Given the description of an element on the screen output the (x, y) to click on. 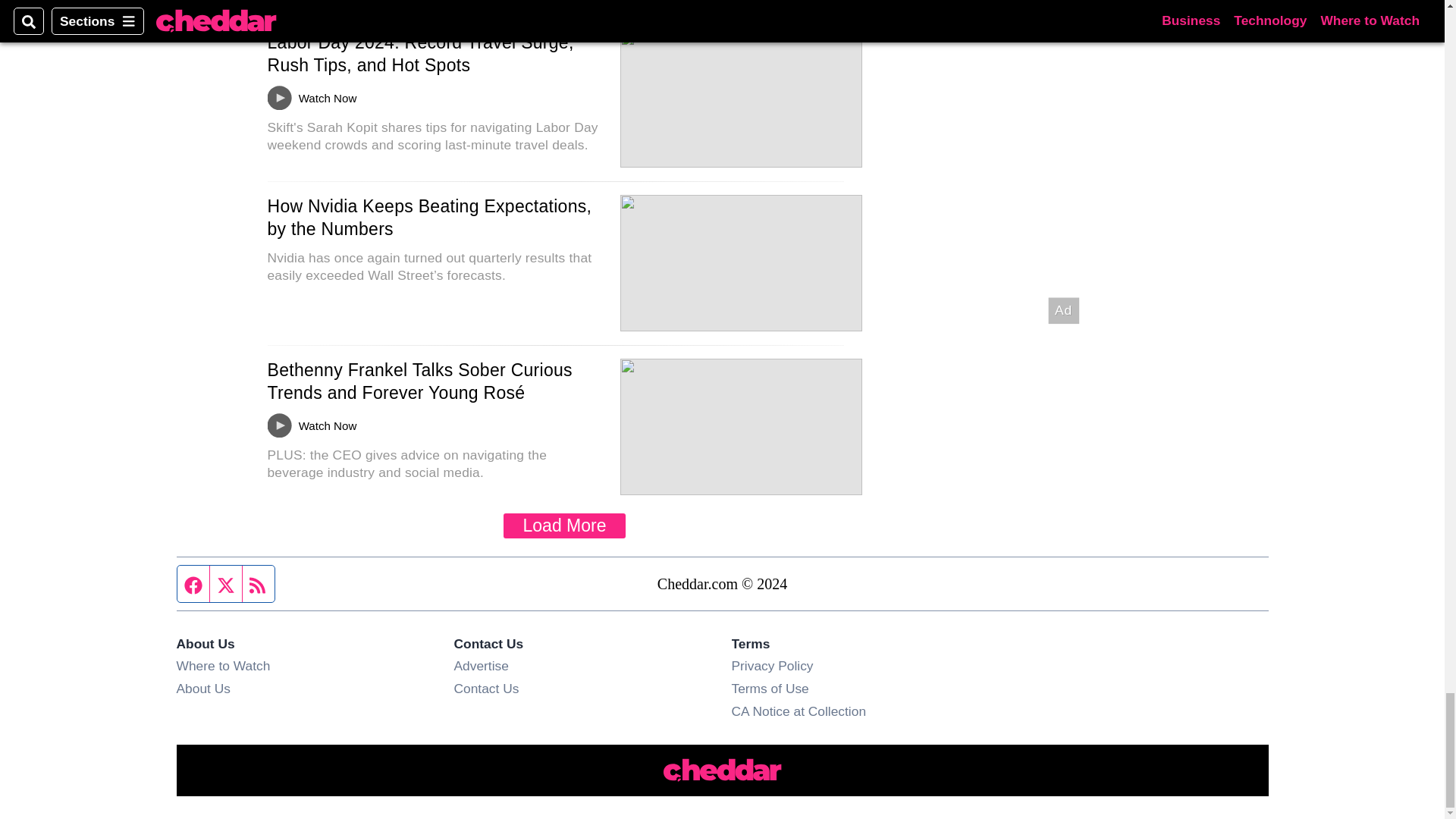
Load More (564, 525)
How Nvidia Keeps Beating Expectations, by the Numbers (428, 217)
